Given the description of an element on the screen output the (x, y) to click on. 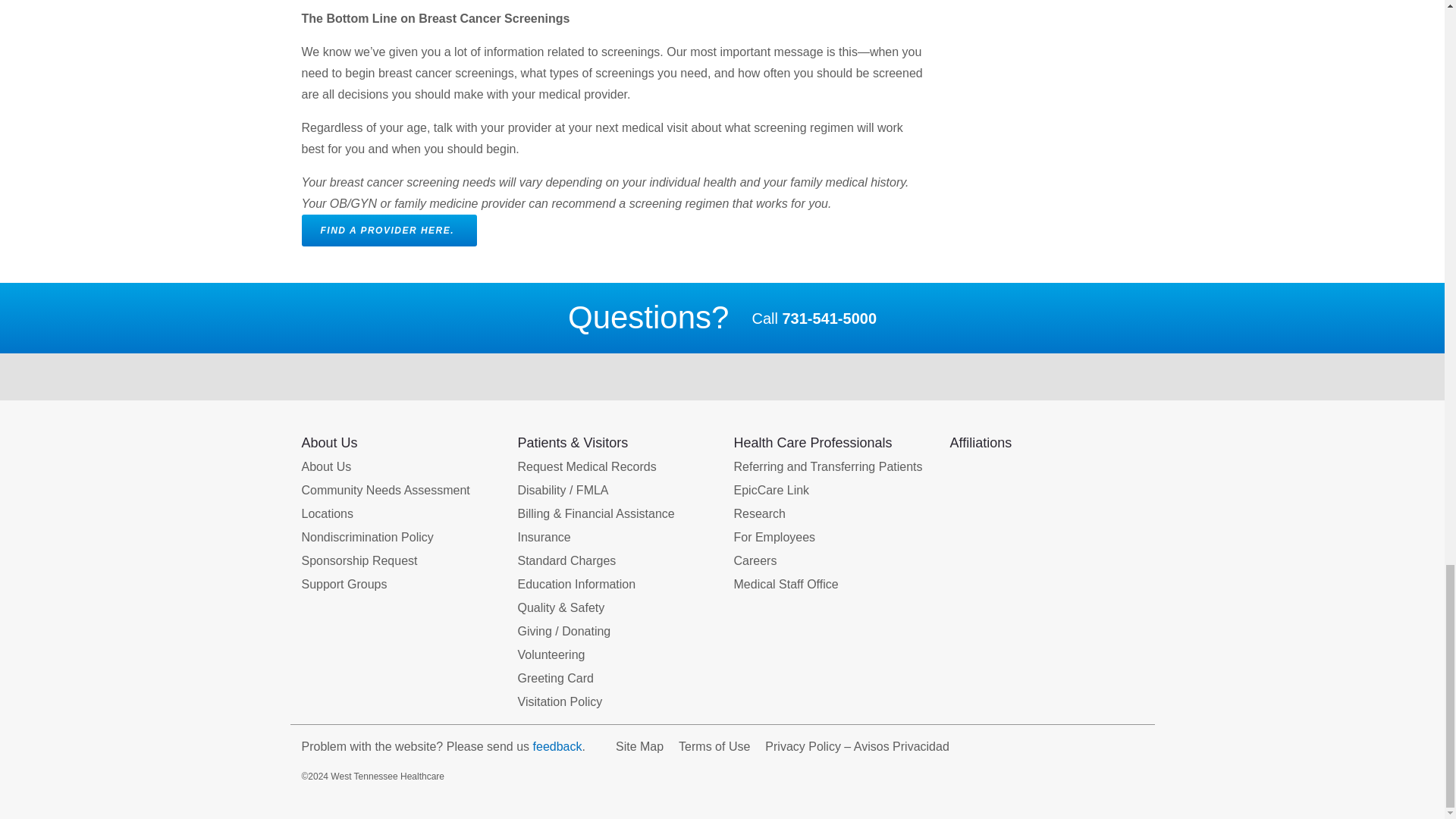
FIND A PROVIDER HERE.  (389, 230)
731-541-5000 (828, 318)
